Given the description of an element on the screen output the (x, y) to click on. 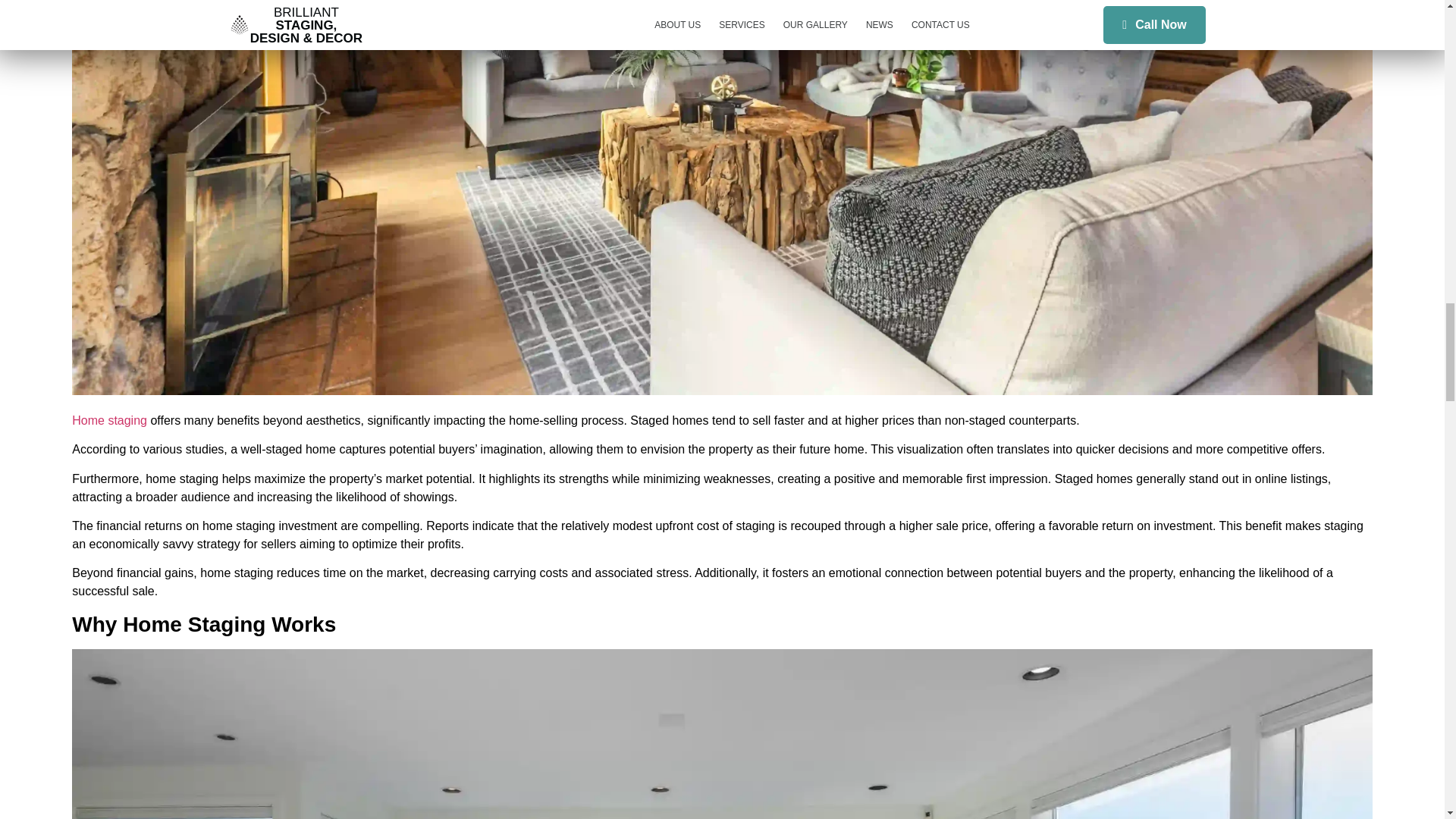
Home staging (109, 420)
